Given the description of an element on the screen output the (x, y) to click on. 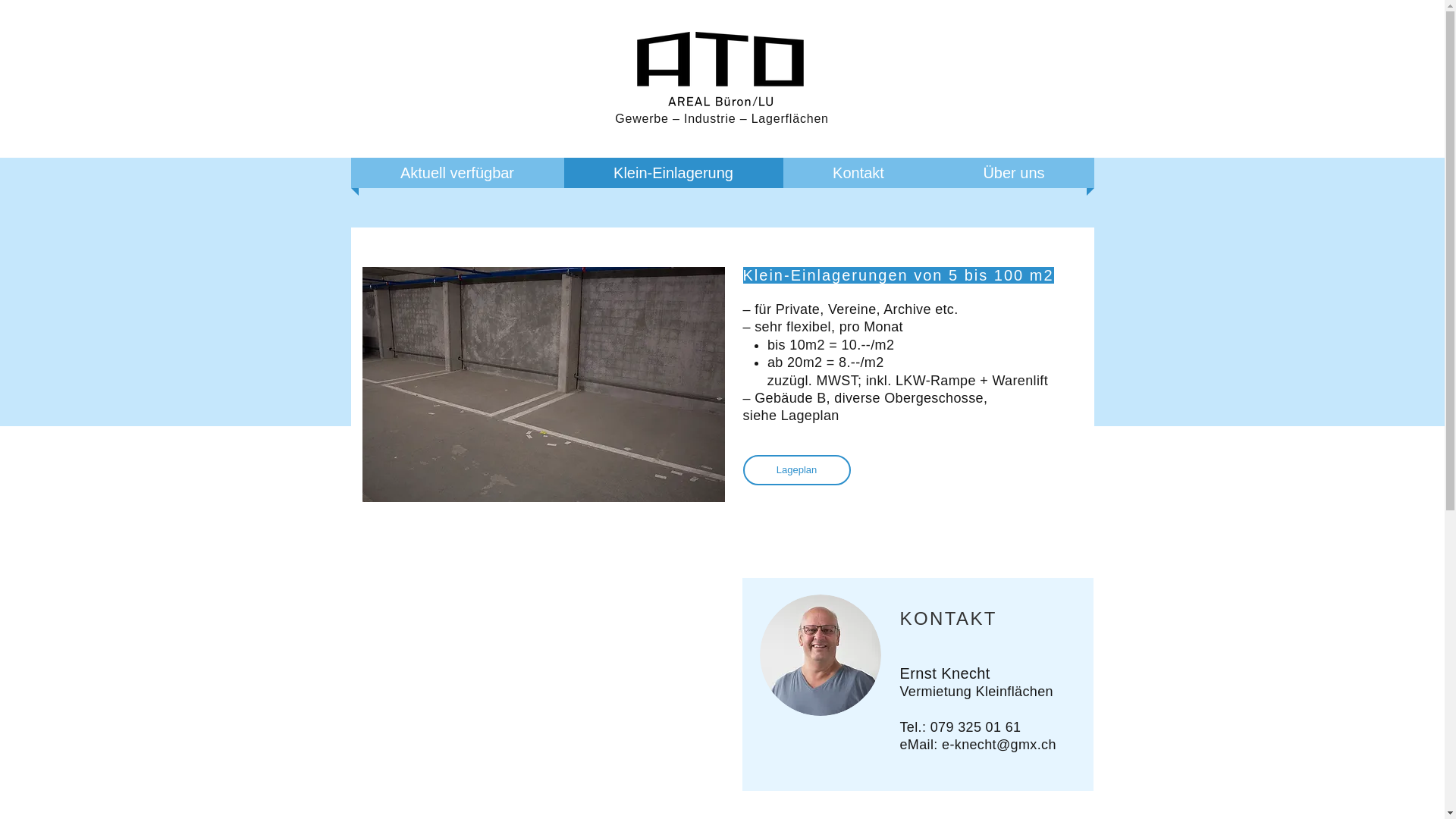
Lageplan Element type: text (796, 470)
Kontakt Element type: text (857, 172)
Klein-Einlagerung Element type: text (673, 172)
e-knecht@gmx.ch Element type: text (998, 744)
